Given the description of an element on the screen output the (x, y) to click on. 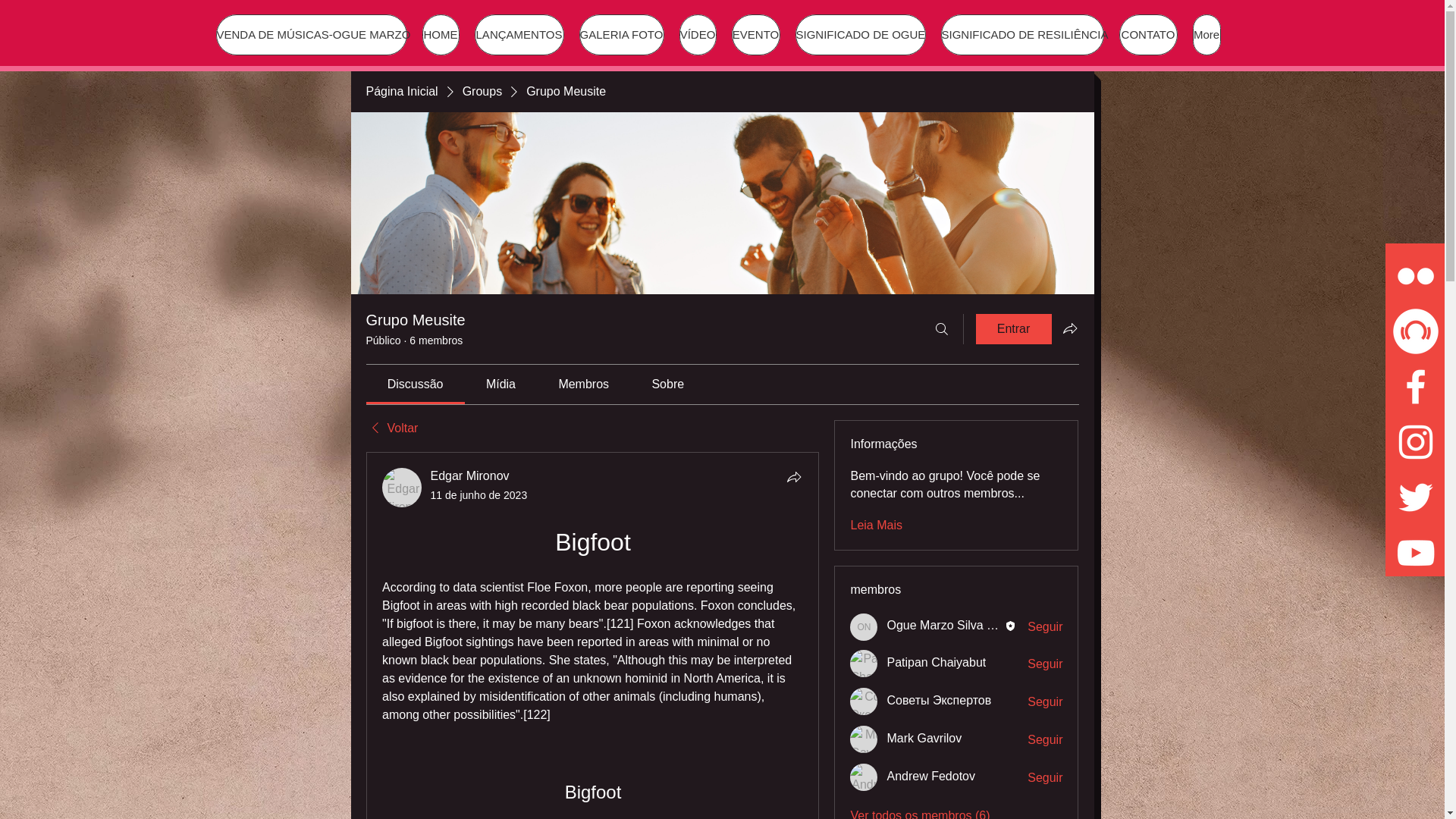
Entrar (1013, 328)
SIGNIFICADO DE OGUE (859, 34)
GALERIA FOTO (621, 34)
Andrew Fedotov (863, 777)
Ogue Marzo Silva Machado Nascimento (994, 625)
Voltar (391, 428)
Groups (482, 91)
Seguir (1044, 701)
Patipan Chaiyabut (863, 663)
Seguir (1044, 740)
